Given the description of an element on the screen output the (x, y) to click on. 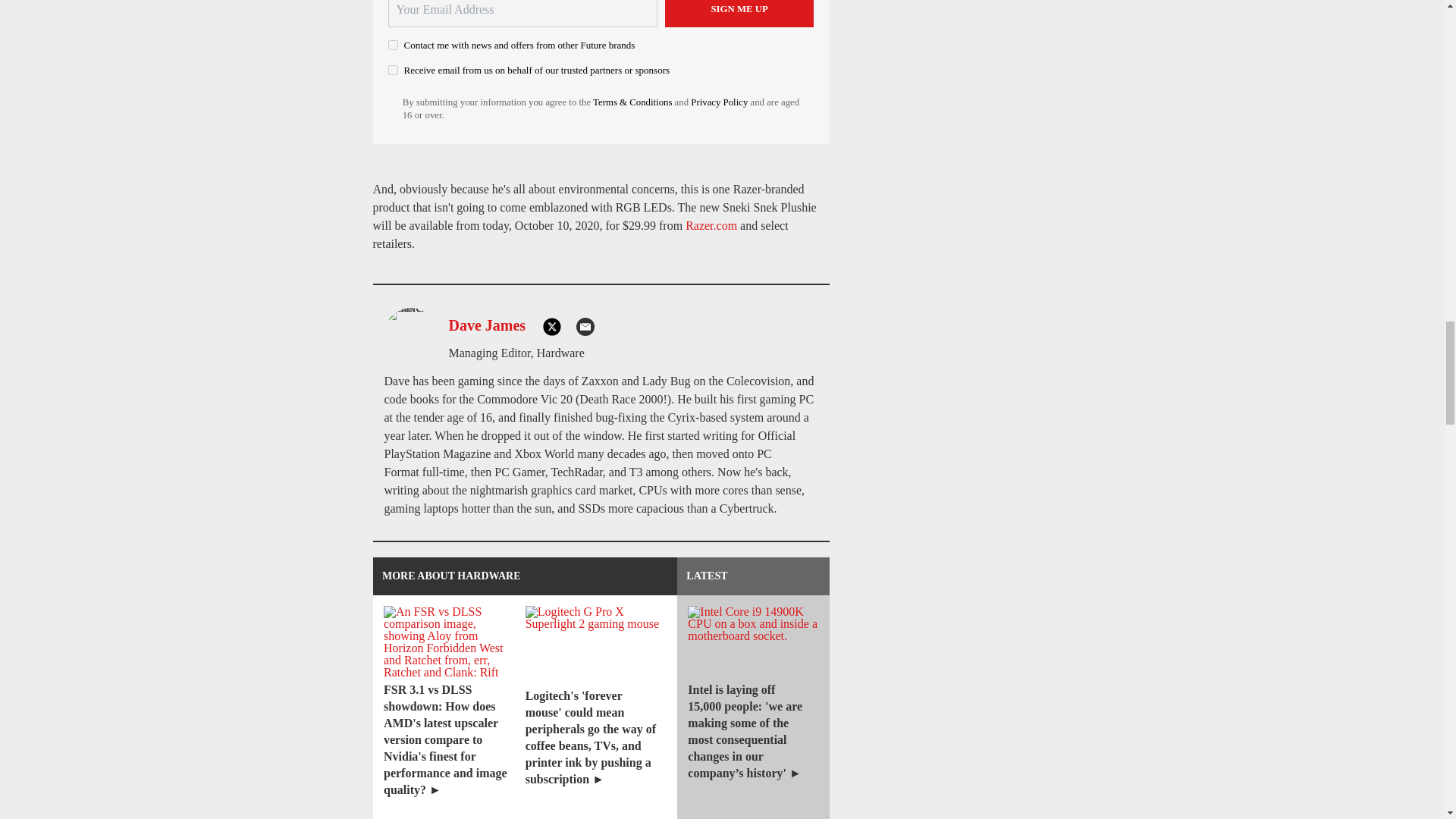
on (392, 44)
Sign me up (739, 13)
on (392, 70)
